Given the description of an element on the screen output the (x, y) to click on. 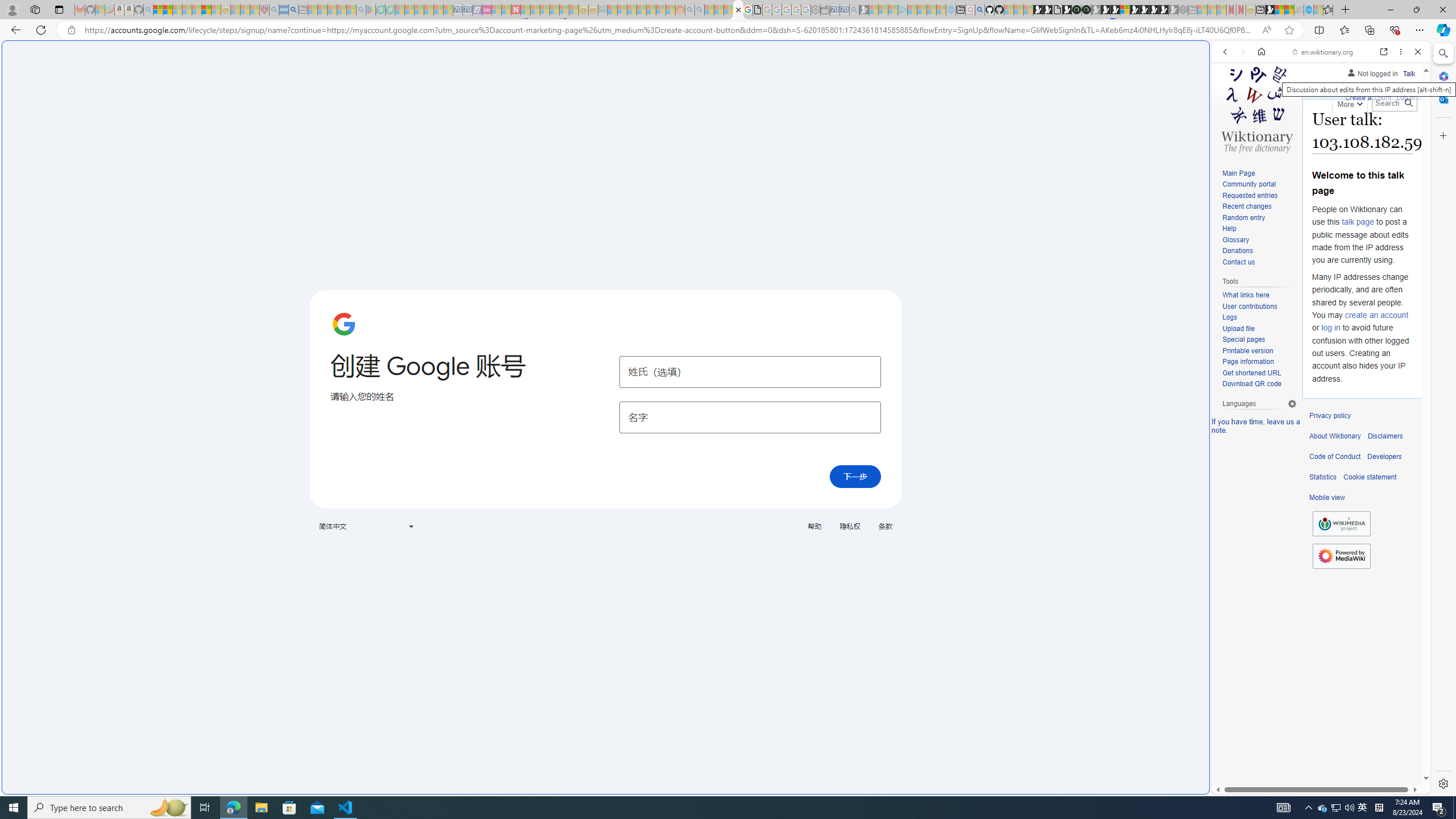
Wiktionary (1315, 380)
Glossary (1259, 240)
Log in (1405, 96)
Discussion (1367, 87)
Get shortened URL (1251, 372)
